Given the description of an element on the screen output the (x, y) to click on. 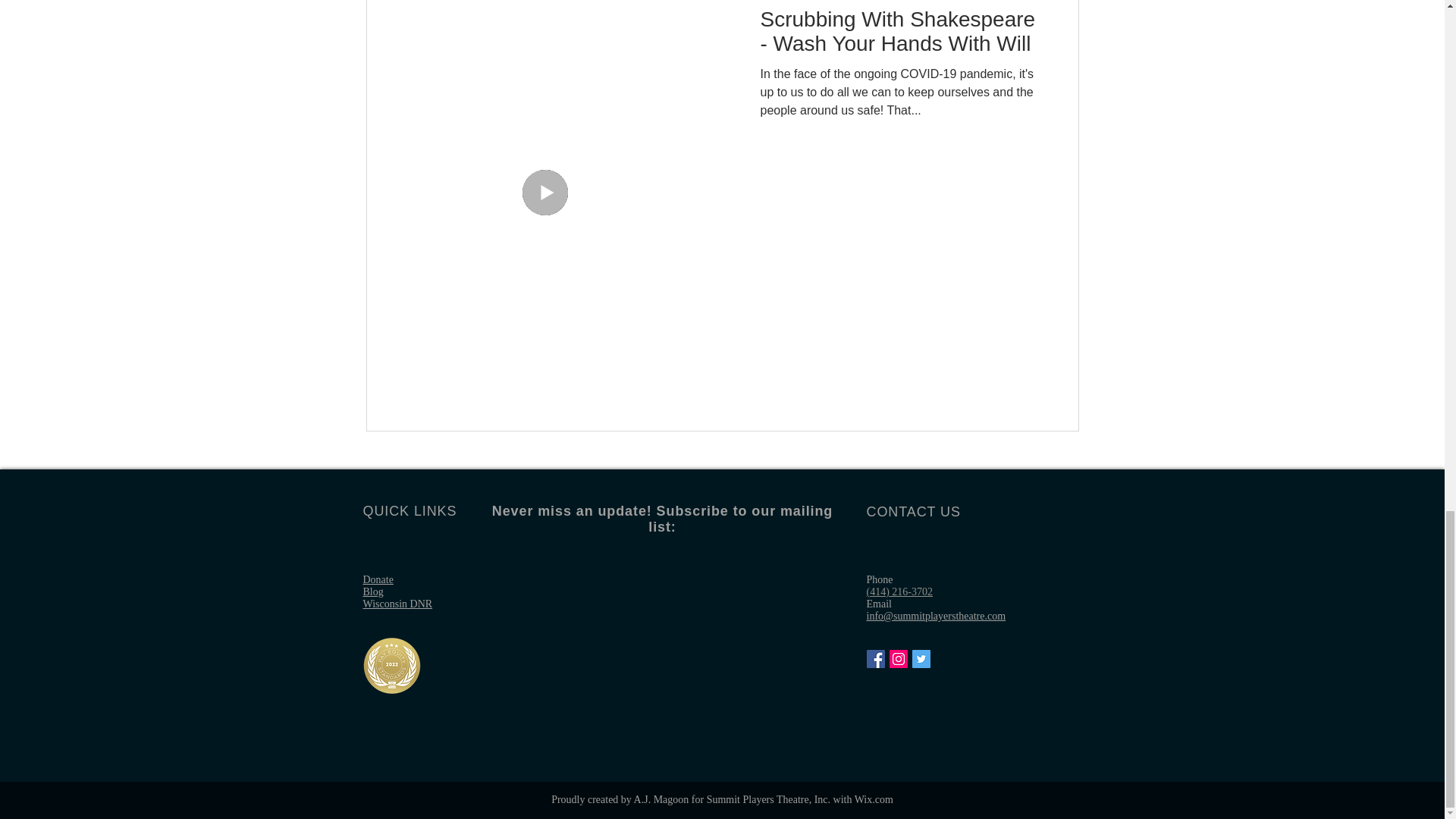
Blog (372, 591)
Donate (377, 579)
Wisconsin DNR (397, 603)
Scrubbing With Shakespeare - Wash Your Hands With Will (900, 35)
Wix.com (873, 799)
